Given the description of an element on the screen output the (x, y) to click on. 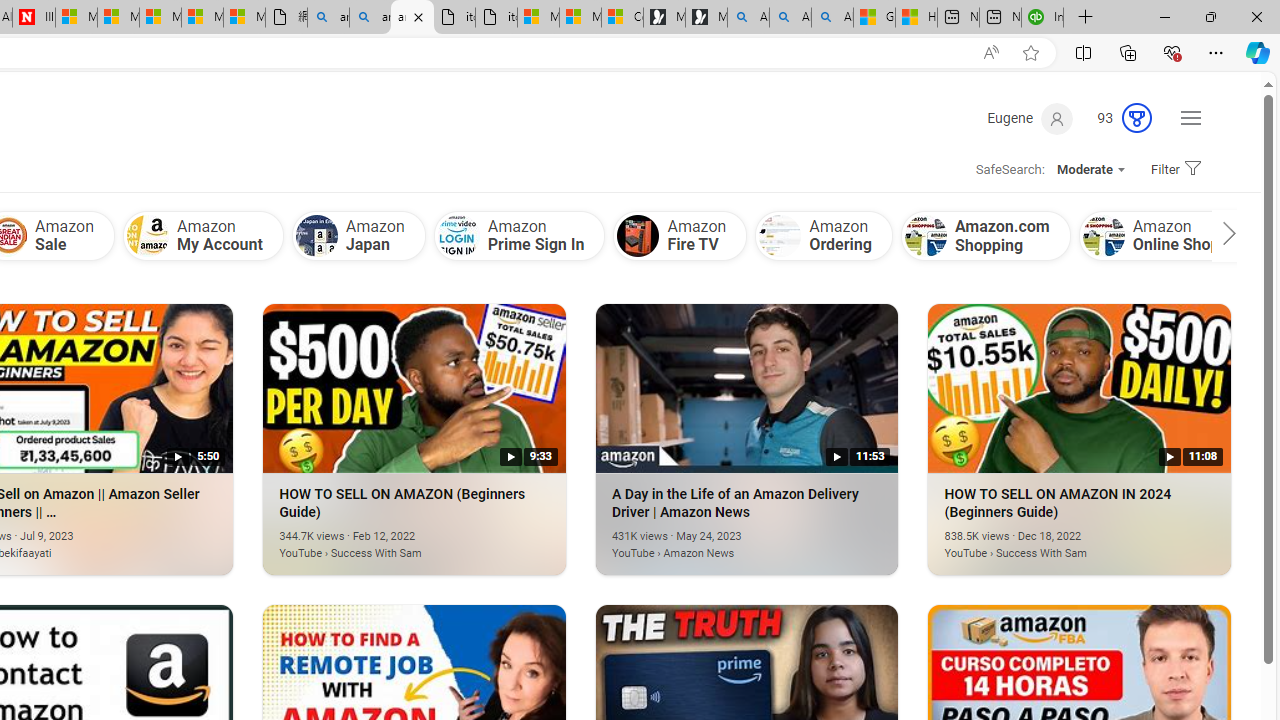
Alabama high school quarterback dies - Search (748, 17)
Class: item col (1174, 235)
amazon - Search Videos (411, 17)
SafeSearch: (1003, 169)
Microsoft Rewards 93 (1116, 119)
Amazon Fire TV (638, 236)
Amazon.com Shopping (985, 235)
Amazon Japan (315, 236)
Amazon.com Shopping (925, 236)
Amazon My Account (202, 235)
